Given the description of an element on the screen output the (x, y) to click on. 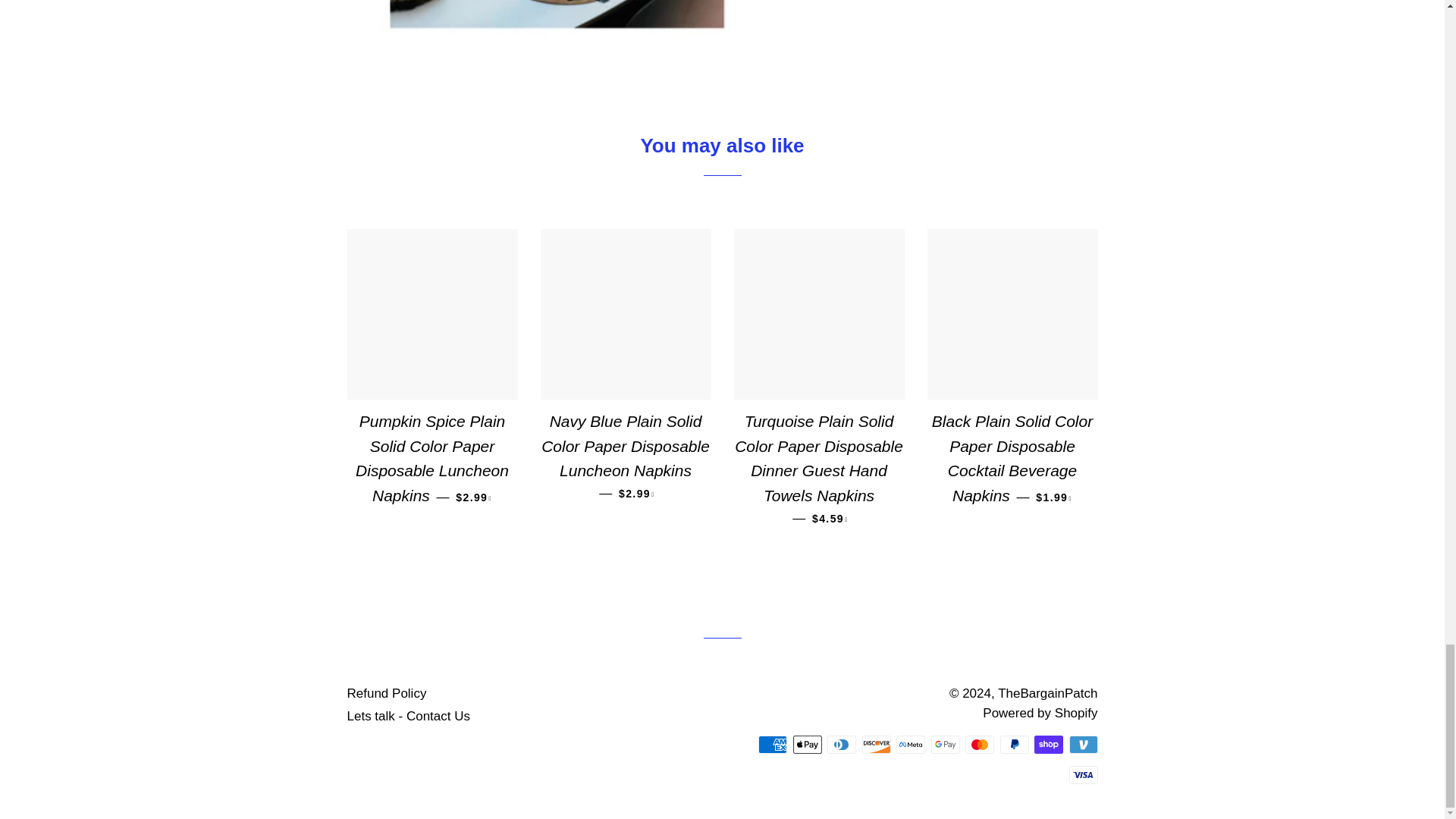
Refund Policy (386, 693)
Shop Pay (1047, 744)
PayPal (1012, 744)
Discover (875, 744)
TheBargainPatch (1047, 693)
American Express (772, 744)
Google Pay (945, 744)
Powered by Shopify (1039, 712)
Mastercard (979, 744)
Visa (1082, 774)
Venmo (1082, 744)
Meta Pay (910, 744)
Lets talk - Contact Us (408, 716)
Apple Pay (807, 744)
Diners Club (841, 744)
